Given the description of an element on the screen output the (x, y) to click on. 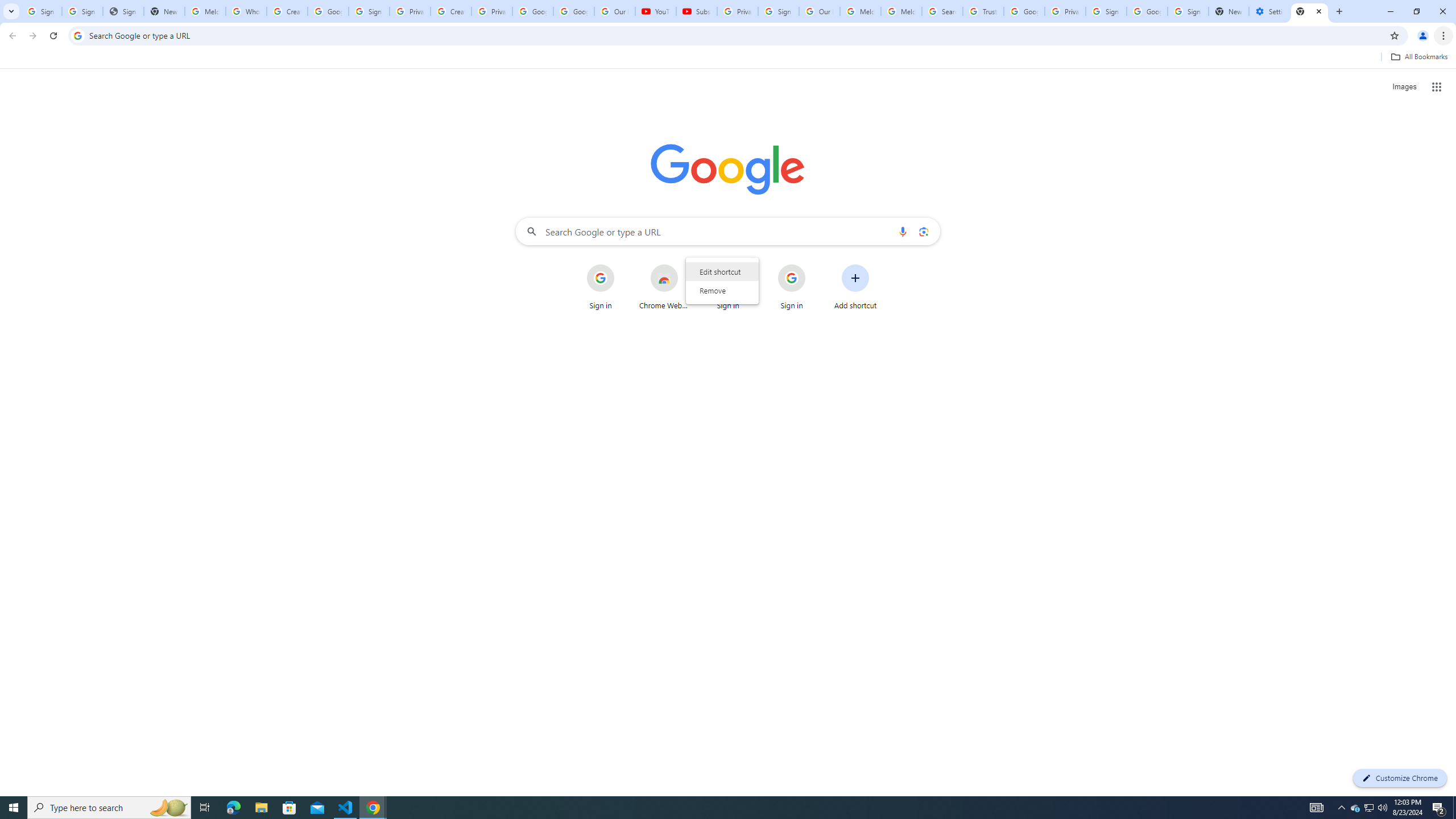
Sign in - Google Accounts (368, 11)
Google Ads - Sign in (1023, 11)
YouTube (655, 11)
New Tab (1309, 11)
Sign in - Google Accounts (81, 11)
Create your Google Account (450, 11)
